Given the description of an element on the screen output the (x, y) to click on. 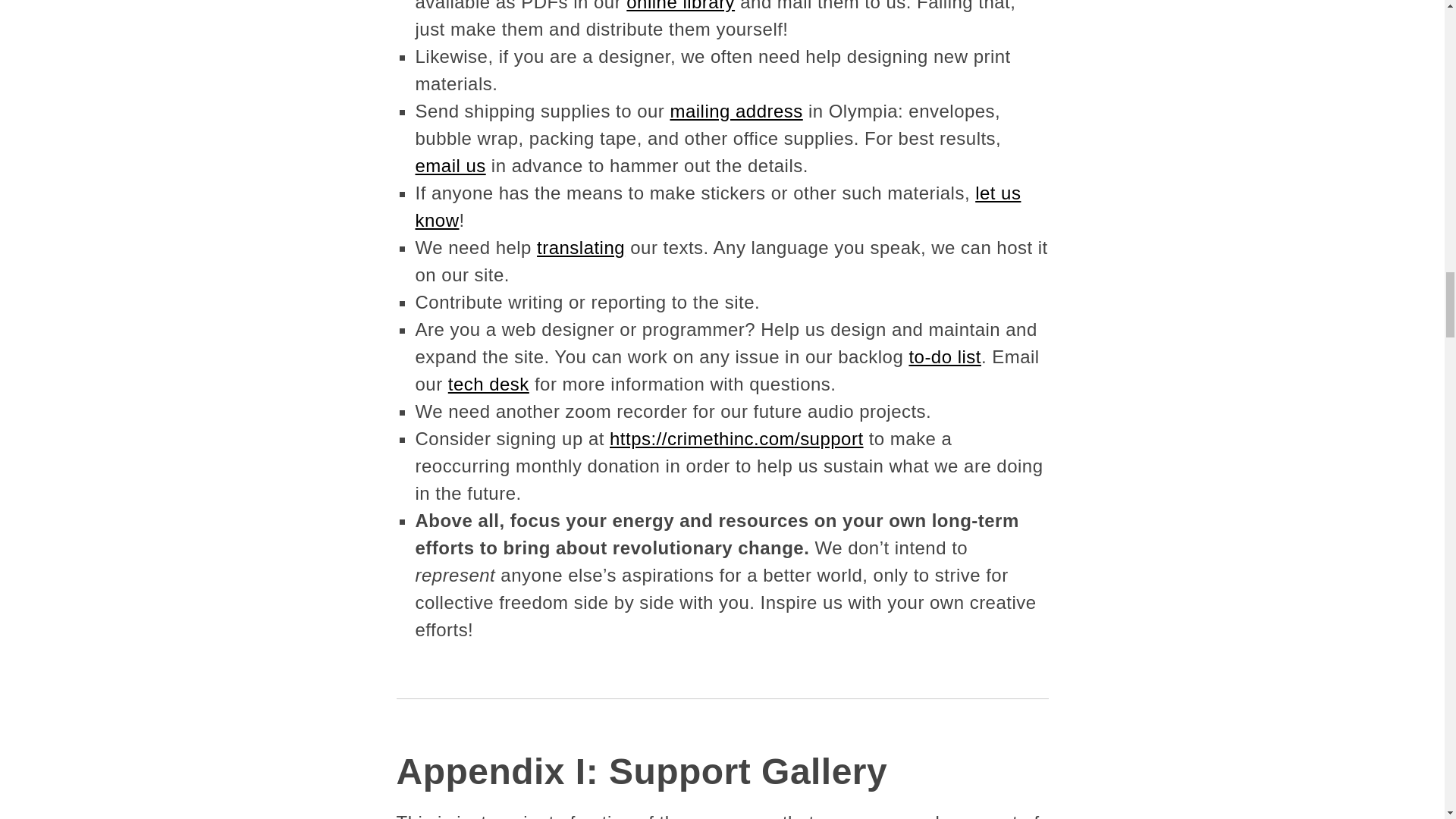
online library (680, 6)
translating (580, 247)
email us (450, 165)
mailing address (735, 110)
let us know (718, 206)
tech desk (488, 383)
to-do list (944, 356)
